Given the description of an element on the screen output the (x, y) to click on. 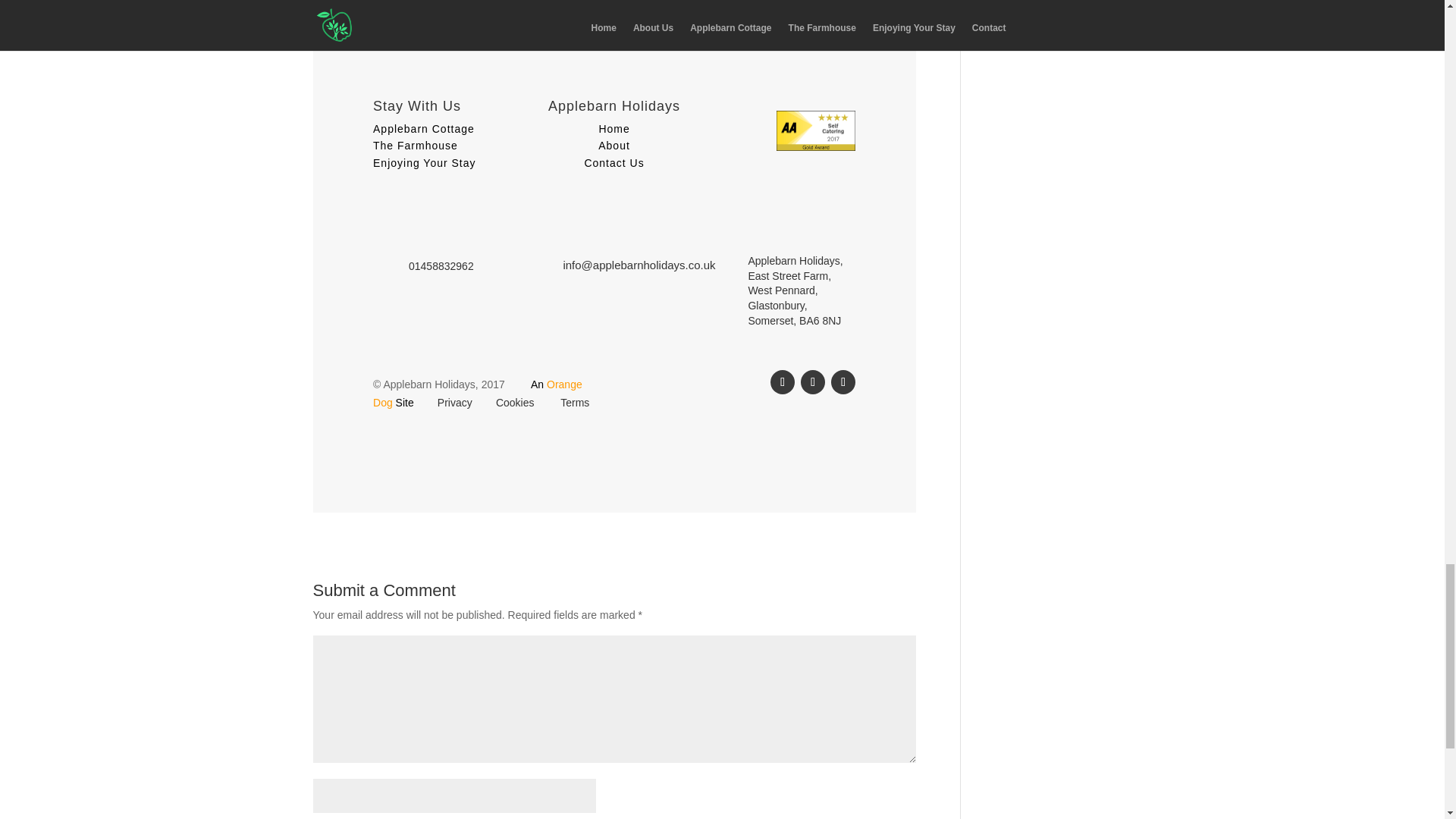
Applebarn Cottage (423, 128)
Follow on X (812, 381)
The Farmhouse (415, 145)
Enjoying Your Stay (424, 162)
Follow on Facebook (782, 381)
About (614, 145)
Home (613, 128)
Follow on Instagram (843, 381)
Orange Dog (477, 393)
Contact Us (613, 162)
